Given the description of an element on the screen output the (x, y) to click on. 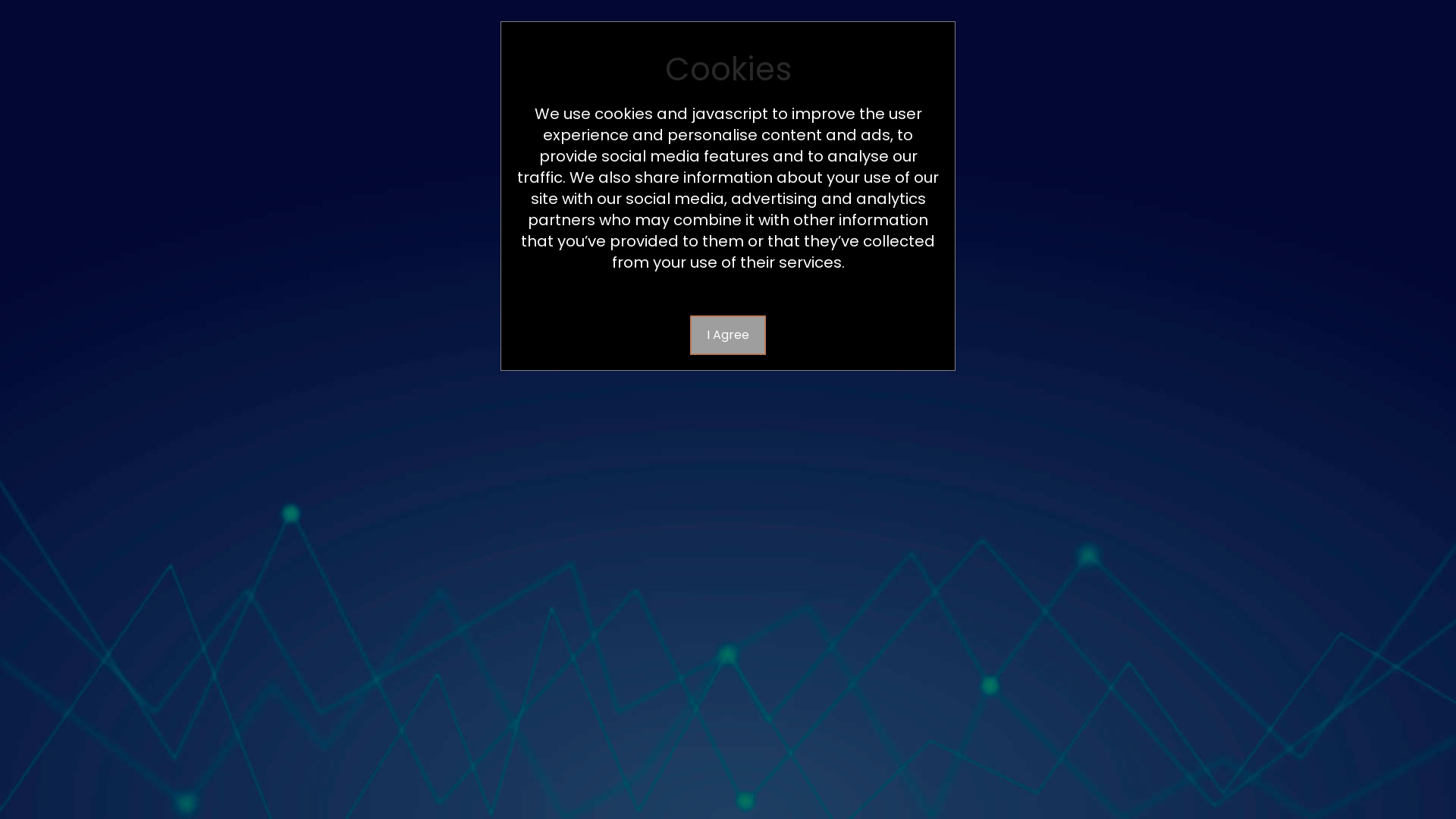
I Agree Element type: text (727, 334)
